Given the description of an element on the screen output the (x, y) to click on. 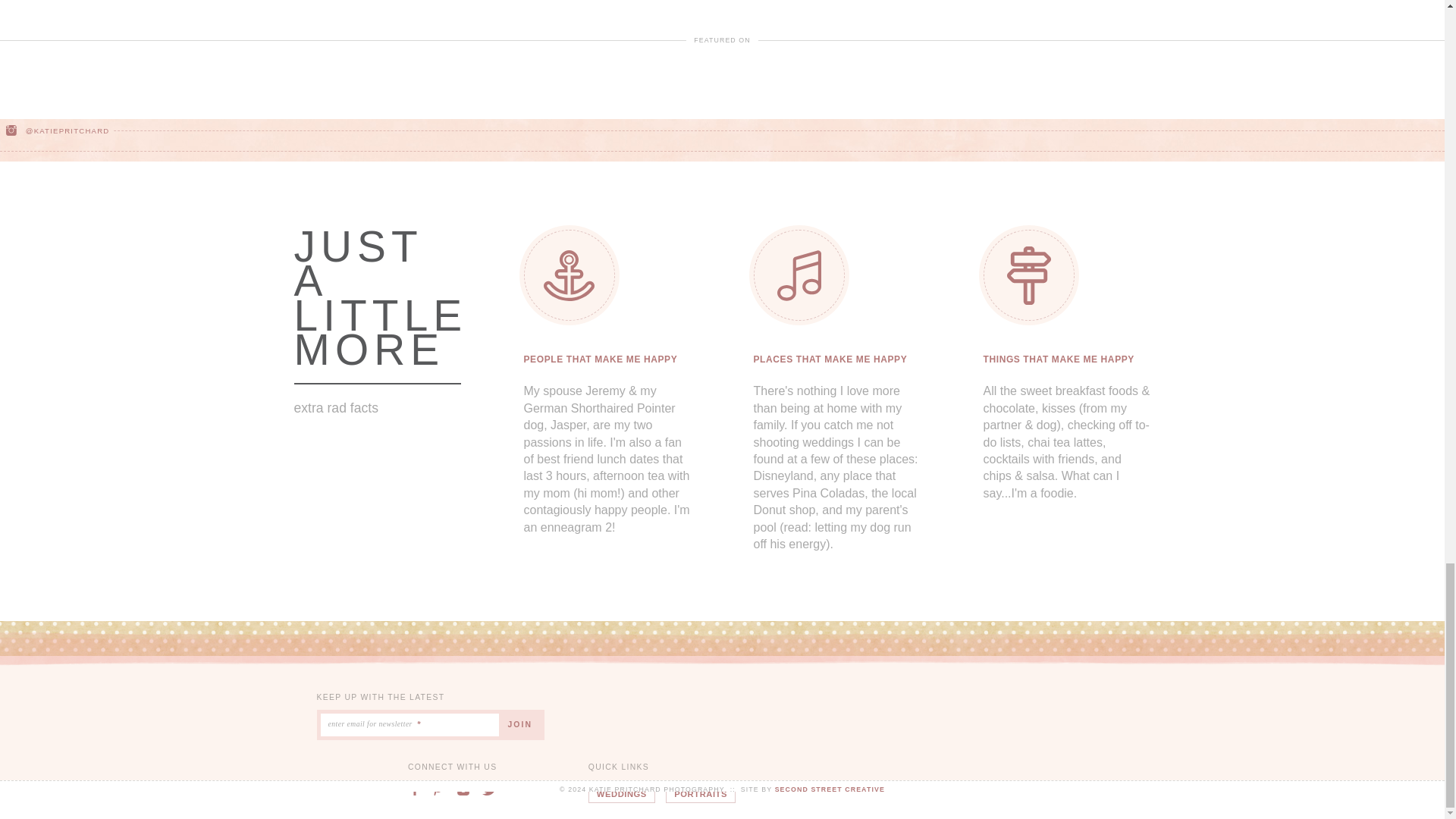
JOIN (521, 725)
